Given the description of an element on the screen output the (x, y) to click on. 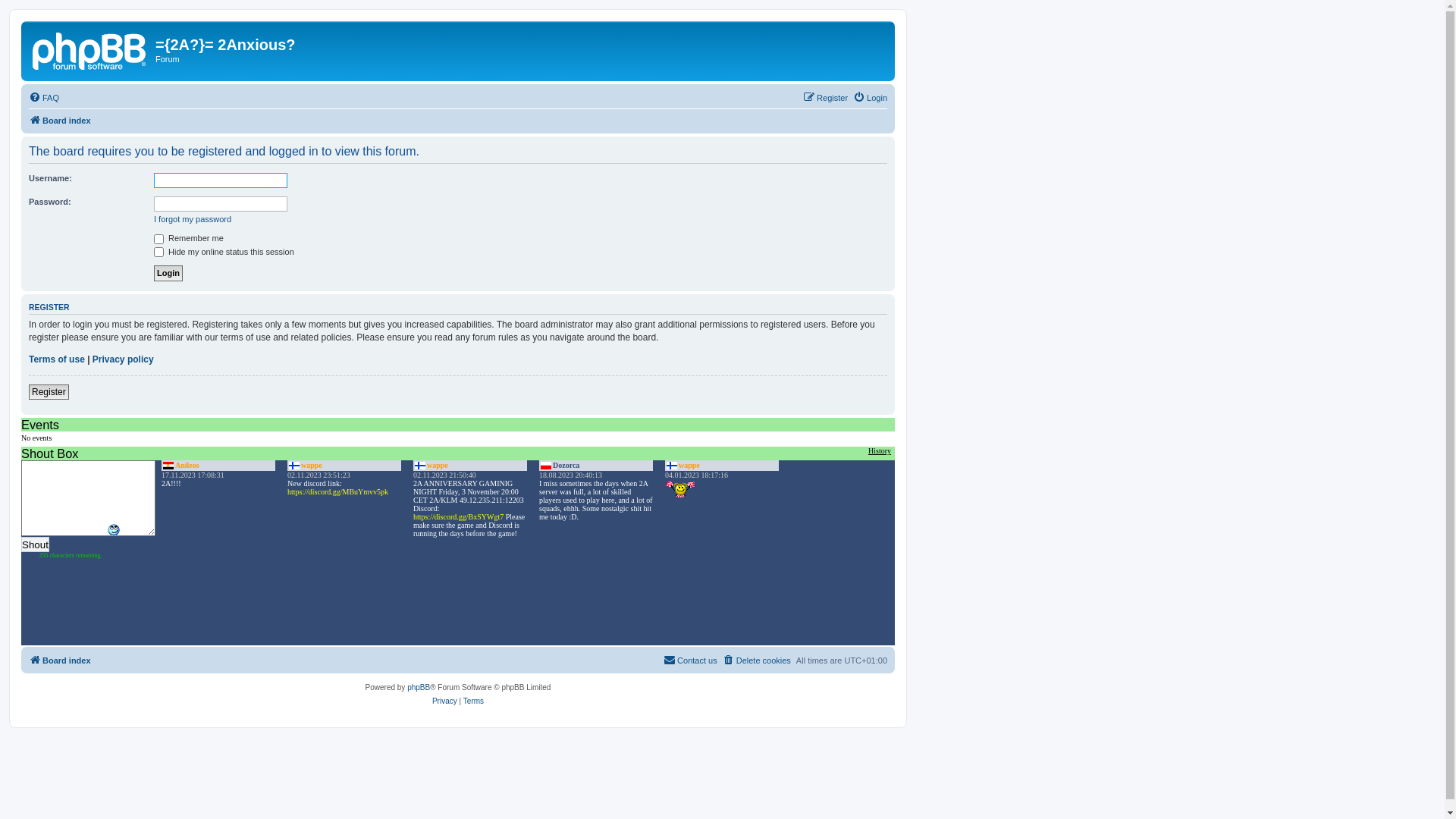
Privacy Element type: text (444, 701)
Board index Element type: hover (90, 49)
Board index Element type: text (59, 120)
Terms of use Element type: text (56, 359)
Terms Element type: text (473, 701)
Privacy policy Element type: text (122, 359)
Board index Element type: text (59, 660)
Login Element type: text (870, 97)
Register Element type: text (825, 97)
Contact us Element type: text (690, 660)
FAQ Element type: text (43, 97)
Delete cookies Element type: text (756, 660)
Login Element type: text (167, 273)
Register Element type: text (48, 391)
phpBB Element type: text (418, 687)
I forgot my password Element type: text (192, 218)
